Given the description of an element on the screen output the (x, y) to click on. 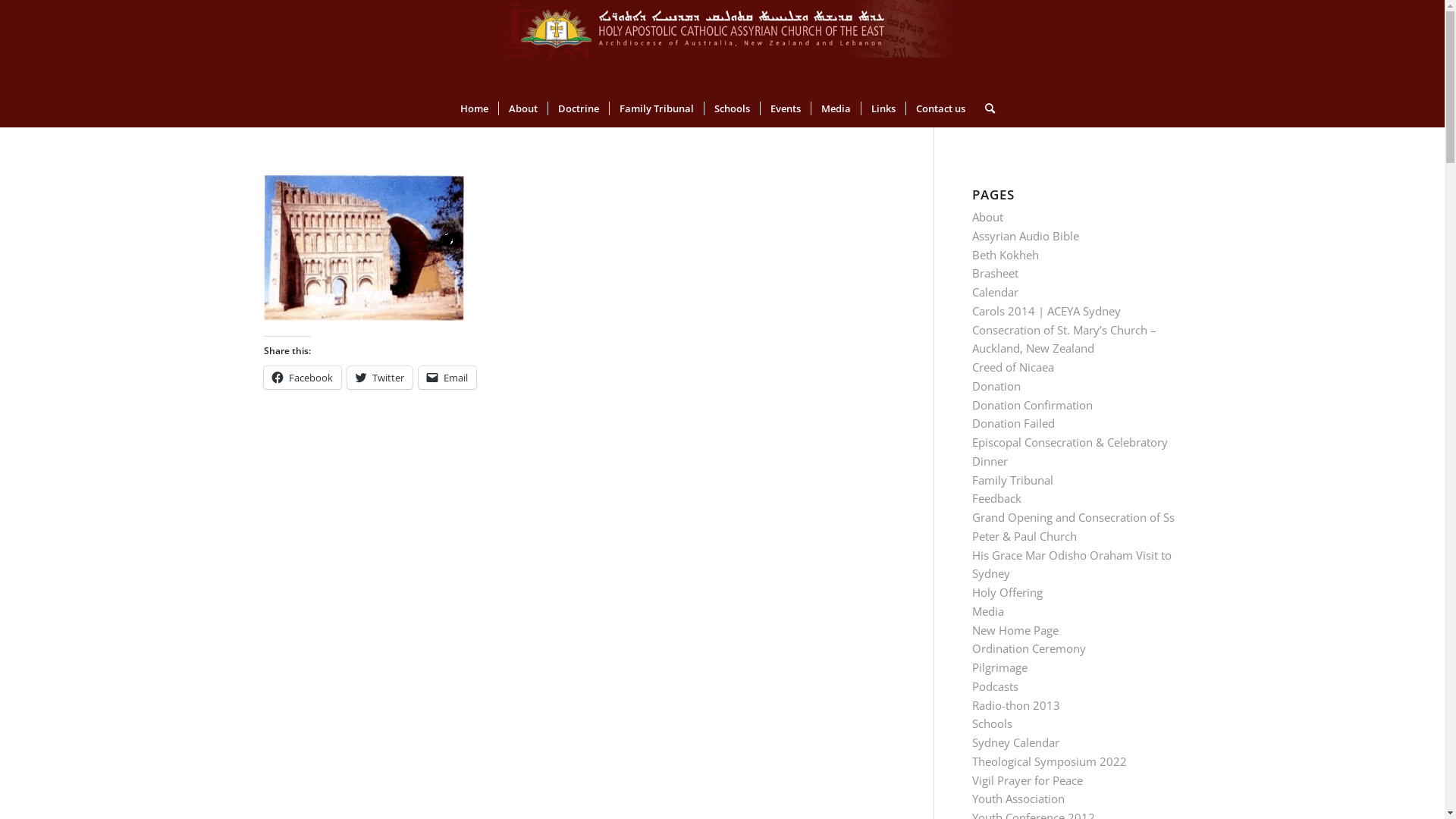
Calendar Element type: text (995, 291)
Schools Element type: text (992, 723)
Events Element type: text (784, 108)
Theological Symposium 2022 Element type: text (1049, 760)
Vigil Prayer for Peace Element type: text (1027, 779)
Ordination Ceremony Element type: text (1028, 647)
Home Element type: text (474, 108)
Donation Confirmation Element type: text (1032, 404)
Family Tribunal Element type: text (655, 108)
Contact us Element type: text (940, 108)
Grand Opening and Consecration of Ss Peter & Paul Church Element type: text (1073, 526)
Holy Offering Element type: text (1007, 591)
Youth Association Element type: text (1018, 798)
New Home Page Element type: text (1015, 629)
Donation Failed Element type: text (1013, 422)
Radio-thon 2013 Element type: text (1016, 704)
Assyrian Audio Bible Element type: text (1025, 235)
Facebook Element type: text (302, 377)
Header_writ Element type: hover (721, 28)
Twitter Element type: text (379, 377)
About Element type: text (987, 216)
Family Tribunal Element type: text (1012, 479)
Feedback Element type: text (996, 497)
Doctrine Element type: text (577, 108)
Pilgrimage Element type: text (999, 666)
Donation Element type: text (996, 385)
Sydney Calendar Element type: text (1015, 741)
Creed of Nicaea Element type: text (1013, 366)
Links Element type: text (881, 108)
Podcasts Element type: text (995, 685)
Media Element type: text (834, 108)
Carols 2014 | ACEYA Sydney Element type: text (1046, 310)
Schools Element type: text (731, 108)
Media Element type: text (988, 610)
Episcopal Consecration & Celebratory Dinner Element type: text (1069, 451)
His Grace Mar Odisho Oraham Visit to Sydney Element type: text (1071, 564)
Beth Kokheh Element type: text (1005, 254)
Brasheet Element type: text (995, 272)
About Element type: text (521, 108)
Email Element type: text (447, 377)
